Given the description of an element on the screen output the (x, y) to click on. 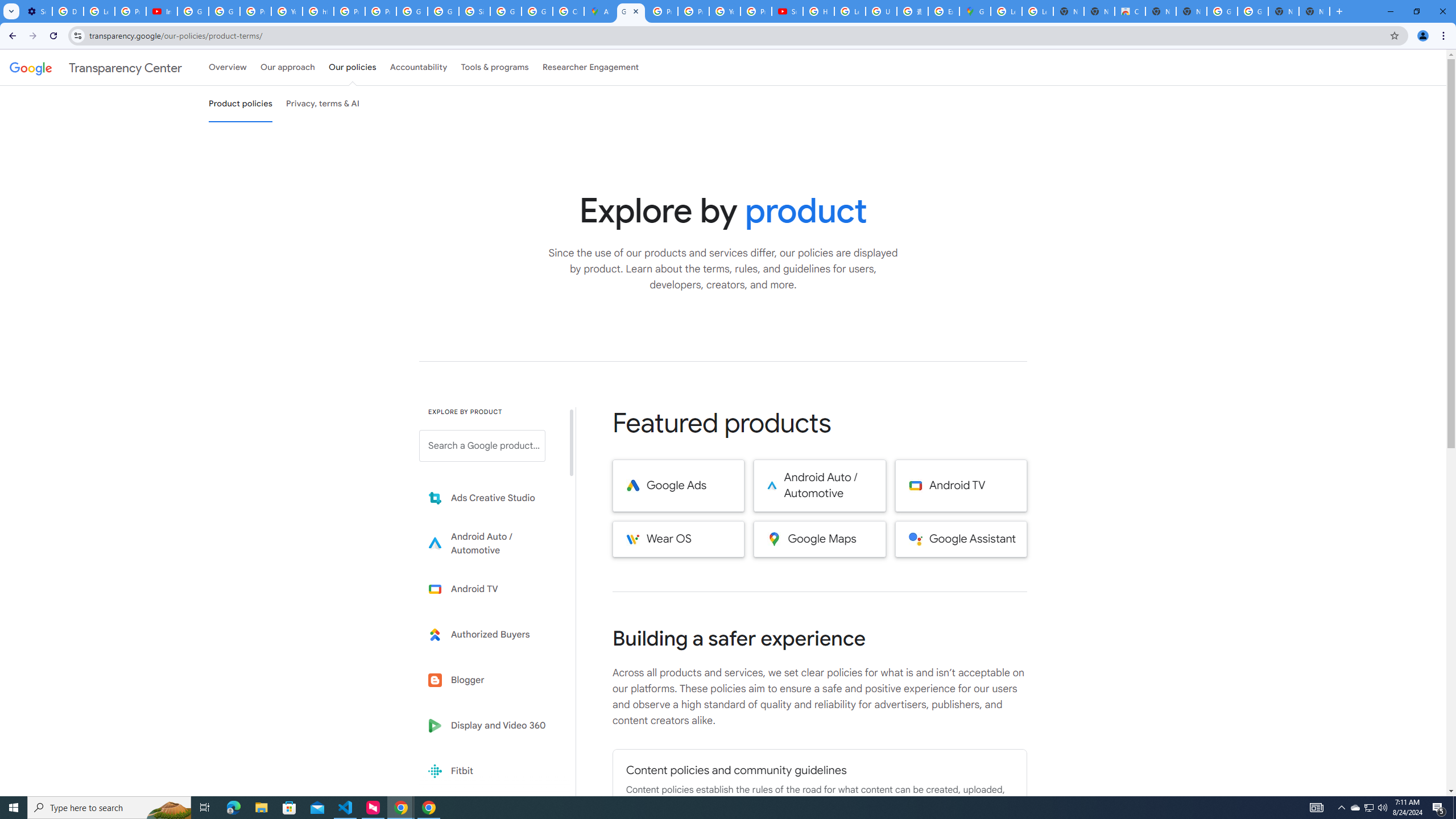
Introduction | Google Privacy Policy - YouTube (161, 11)
Learn more about Android TV (490, 588)
Create your Google Account (568, 11)
